Given the description of an element on the screen output the (x, y) to click on. 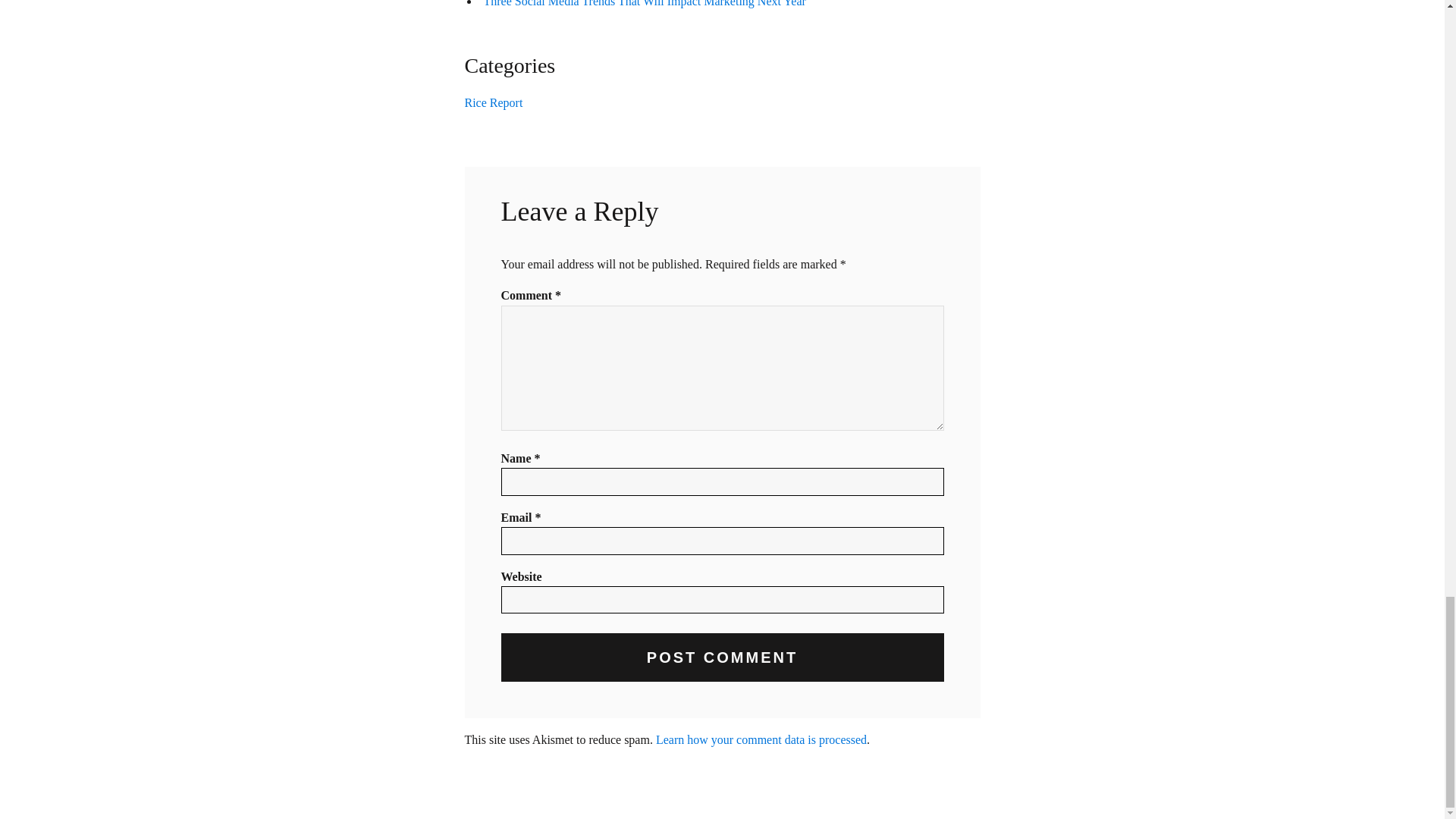
Post Comment (721, 657)
Post Comment (721, 657)
Learn how your comment data is processed (761, 739)
Rice Report (493, 102)
